Given the description of an element on the screen output the (x, y) to click on. 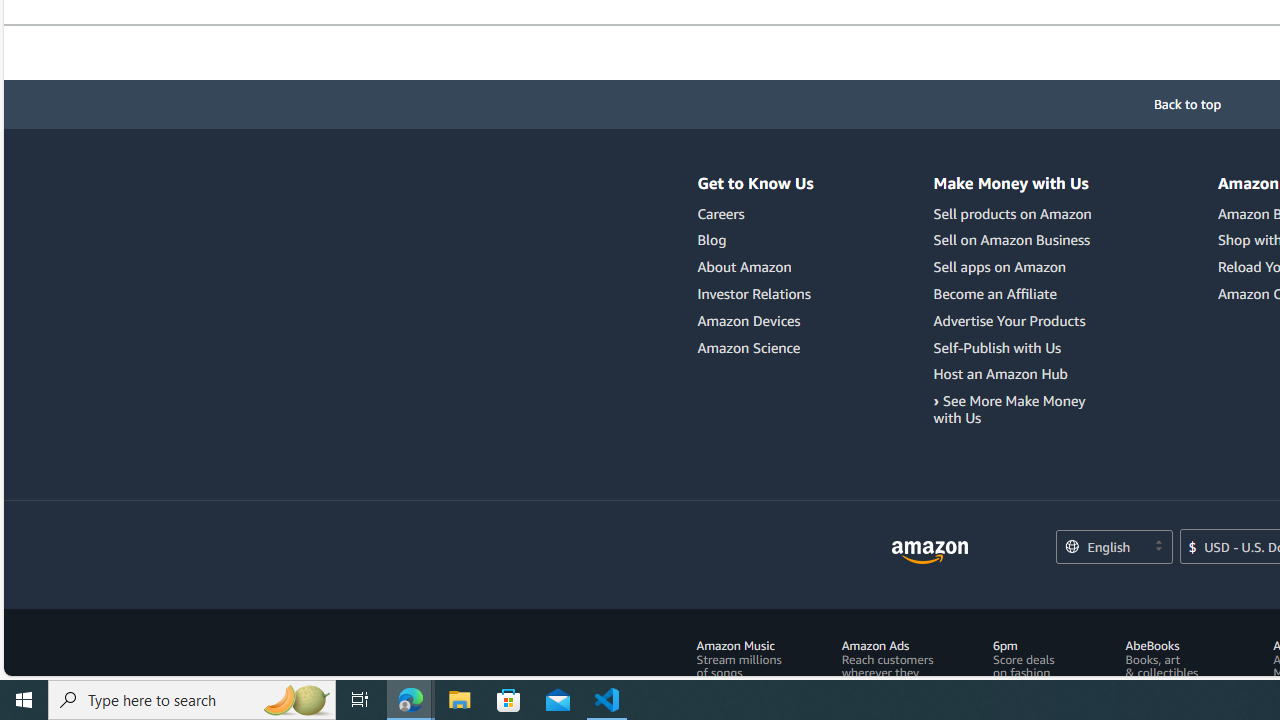
6pm Score deals on fashion brands (1034, 665)
Choose a language for shopping. (1113, 547)
Amazon Music Stream millions of songs (739, 659)
About Amazon (744, 267)
